Given the description of an element on the screen output the (x, y) to click on. 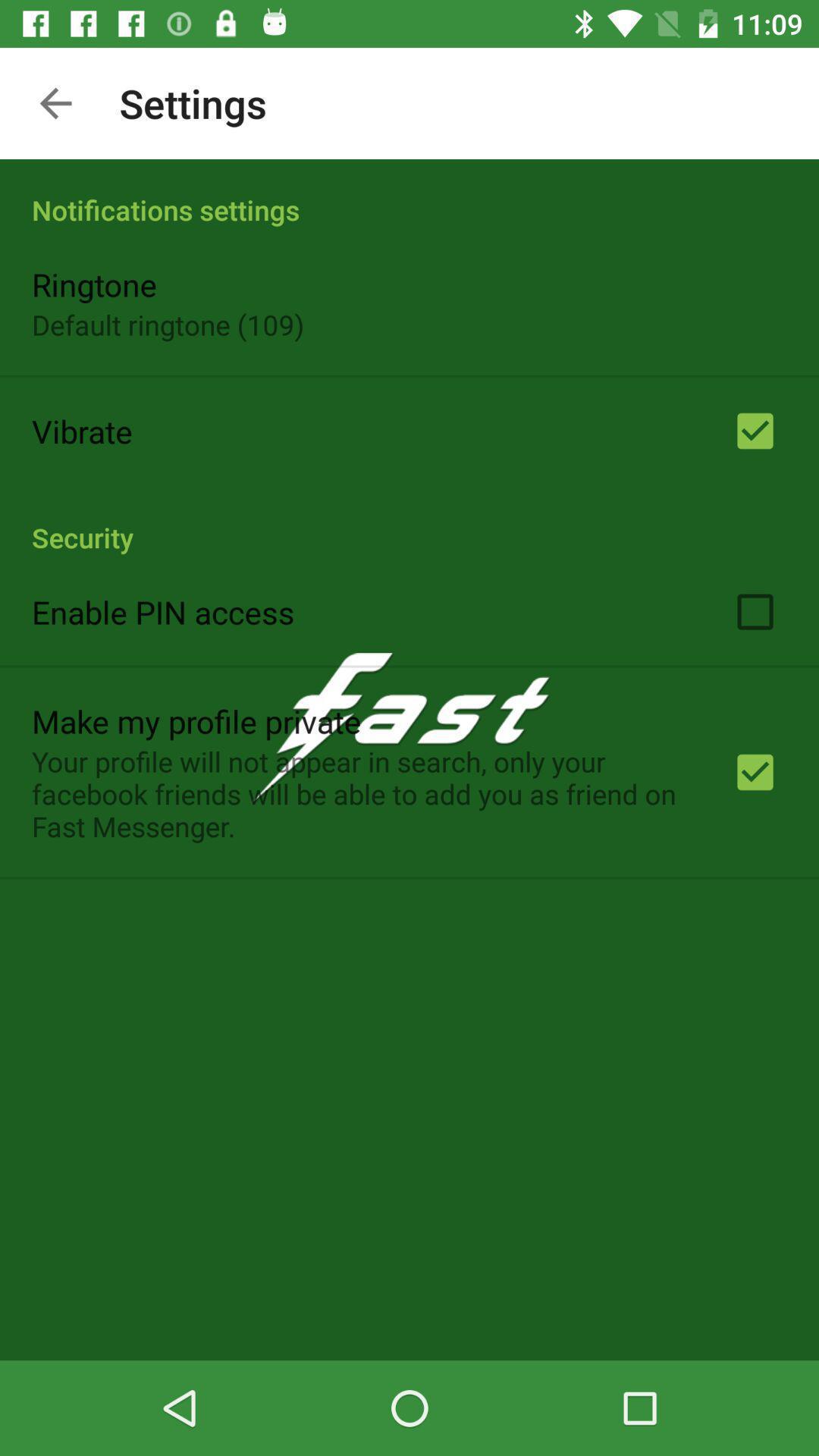
select the make my profile item (196, 720)
